Given the description of an element on the screen output the (x, y) to click on. 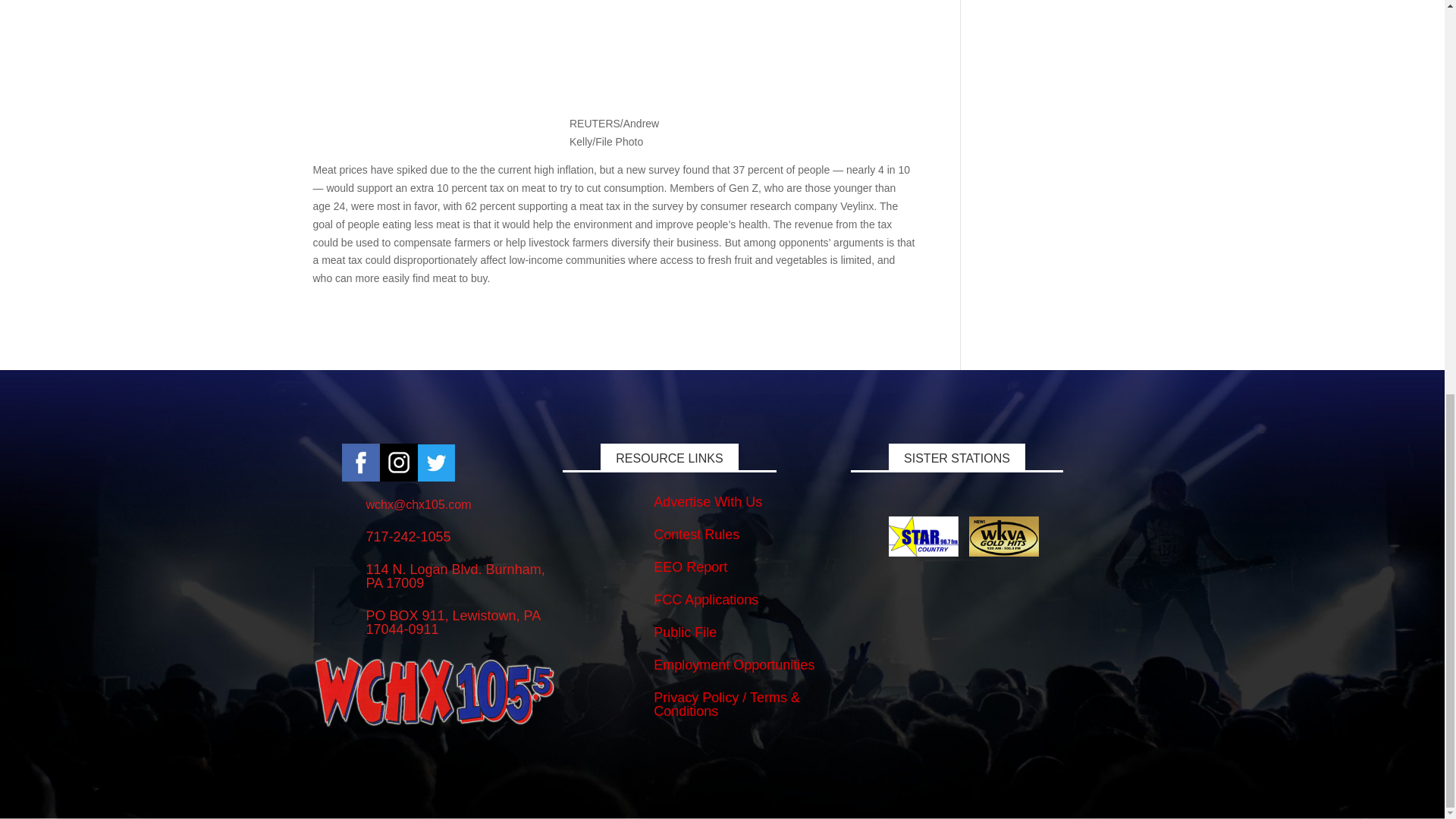
Public File (684, 631)
Employment Opportunities (733, 664)
Advertise With Us (707, 501)
FCC Applications (705, 599)
EEO Report (689, 566)
Contest Rules (696, 534)
